Given the description of an element on the screen output the (x, y) to click on. 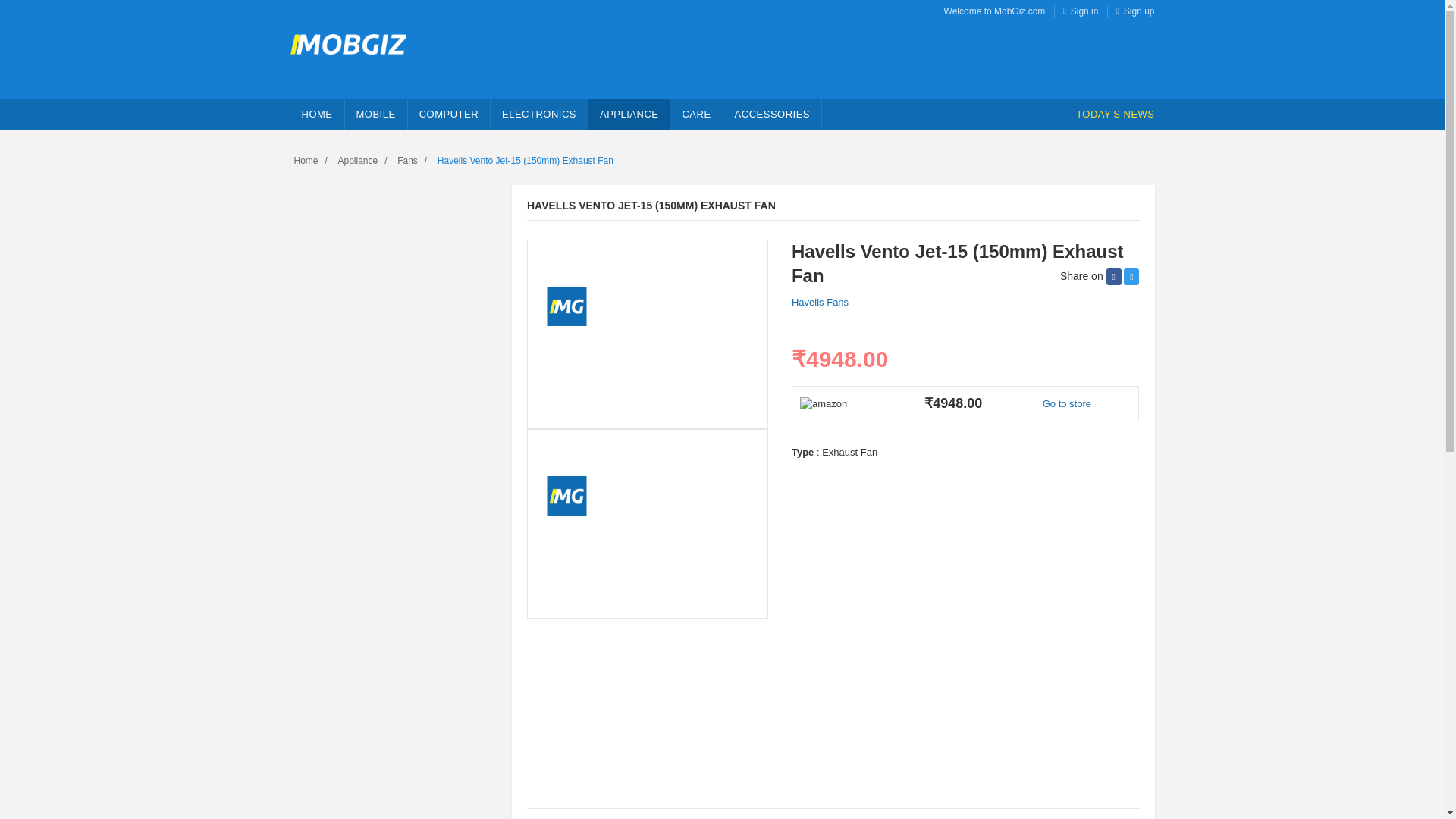
Sign in (1084, 10)
COMPUTER (448, 114)
Mobile (375, 114)
MOBILE (375, 114)
Home (316, 114)
HOME (316, 114)
Computer (448, 114)
Sign up (1139, 10)
Welcome to MobGiz.com (994, 10)
